Given the description of an element on the screen output the (x, y) to click on. 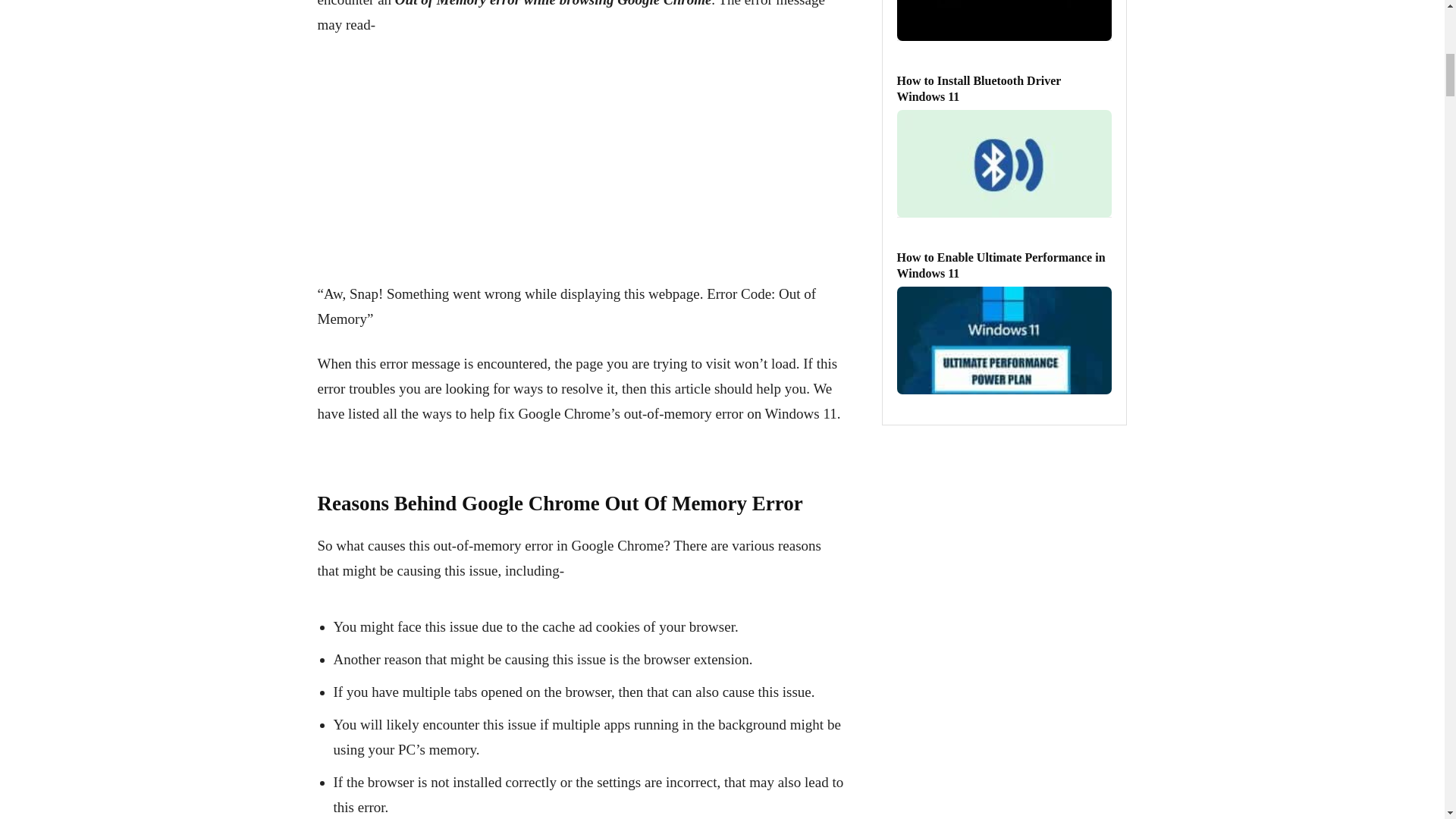
Advertisement (579, 162)
